Given the description of an element on the screen output the (x, y) to click on. 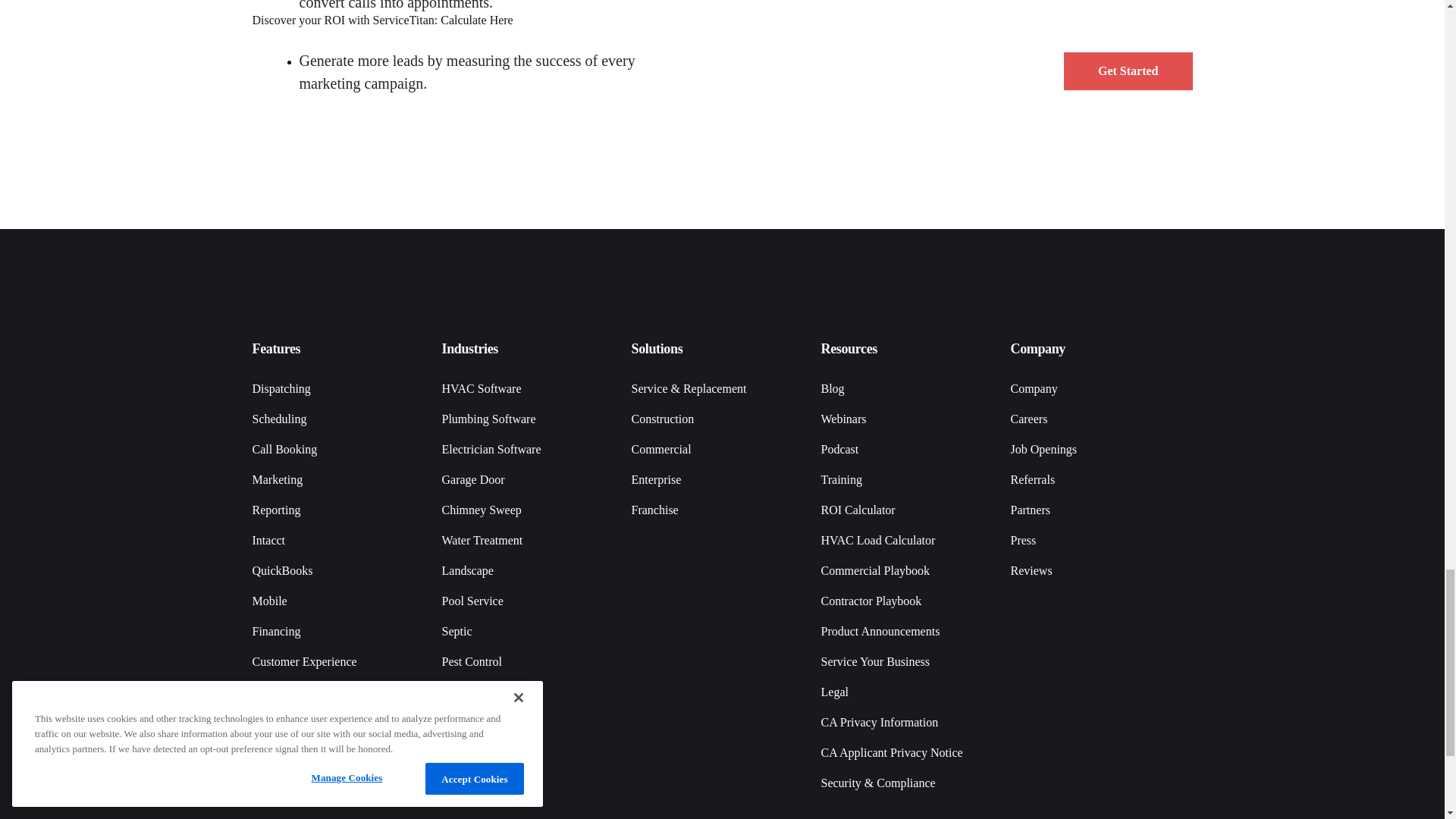
ServiceTitan (337, 292)
